Given the description of an element on the screen output the (x, y) to click on. 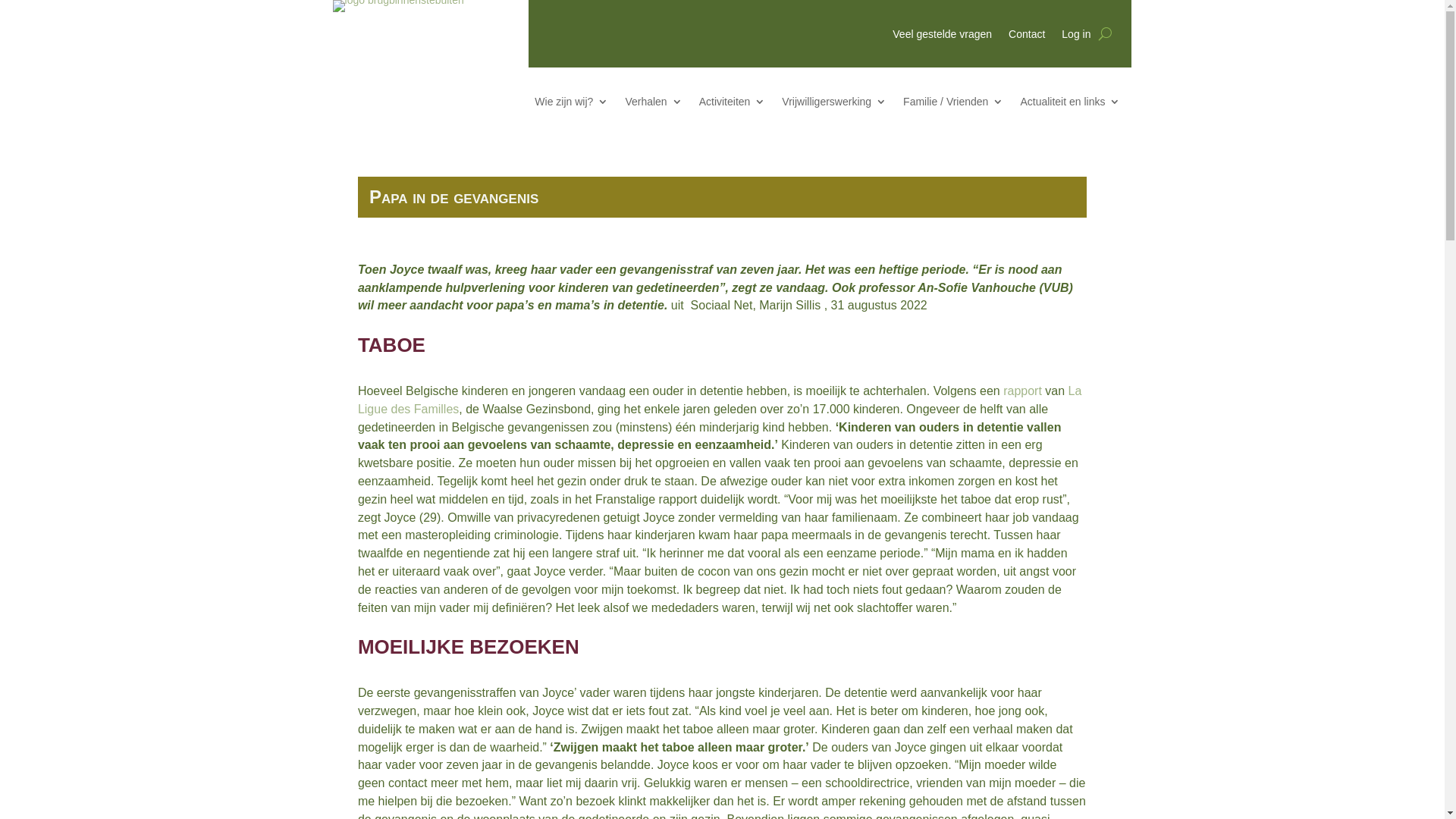
Contact Element type: text (1026, 36)
Vrijwilligerswerking Element type: text (833, 104)
Actualiteit en links Element type: text (1069, 104)
Verhalen Element type: text (652, 104)
moederbestand_logoBBB_kleur_bijgesneden - gemiddeld Element type: hover (398, 6)
La Ligue des Familles Element type: text (719, 399)
rapport Element type: text (1022, 390)
Veel gestelde vragen Element type: text (941, 36)
Activiteiten Element type: text (732, 104)
Wie zijn wij? Element type: text (571, 104)
Familie / Vrienden Element type: text (953, 104)
Log in Element type: text (1075, 36)
